Given the description of an element on the screen output the (x, y) to click on. 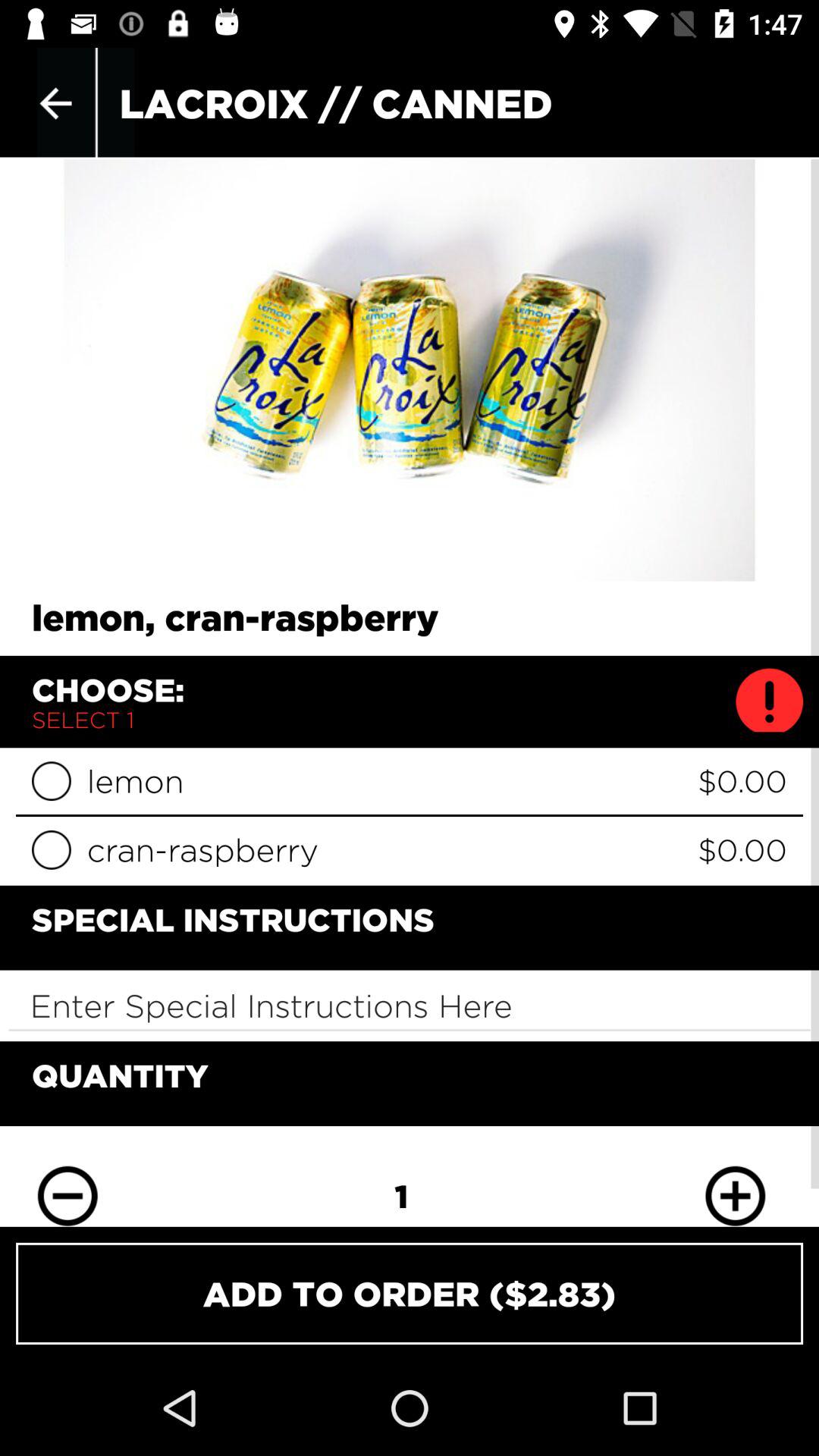
press the item at the top left corner (55, 103)
